Given the description of an element on the screen output the (x, y) to click on. 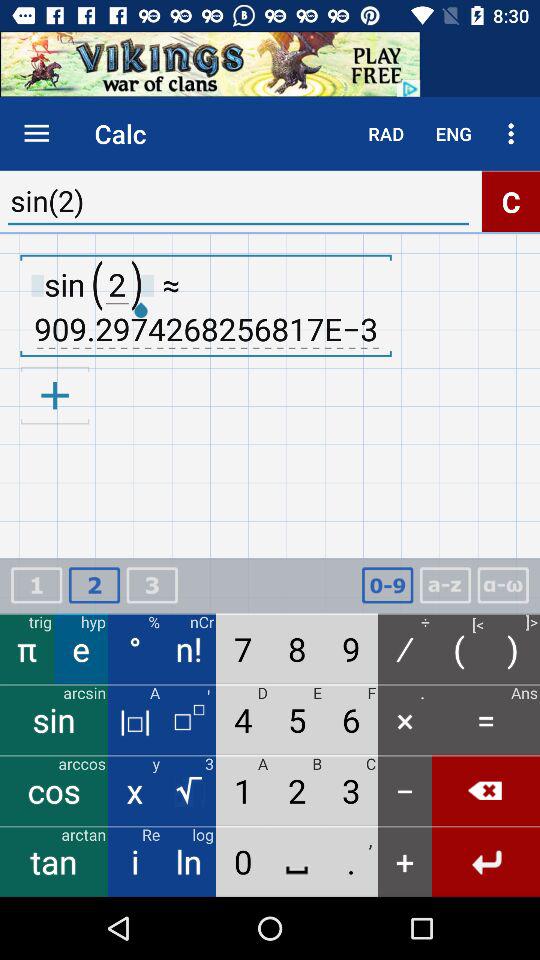
select 3rd option (152, 585)
